Given the description of an element on the screen output the (x, y) to click on. 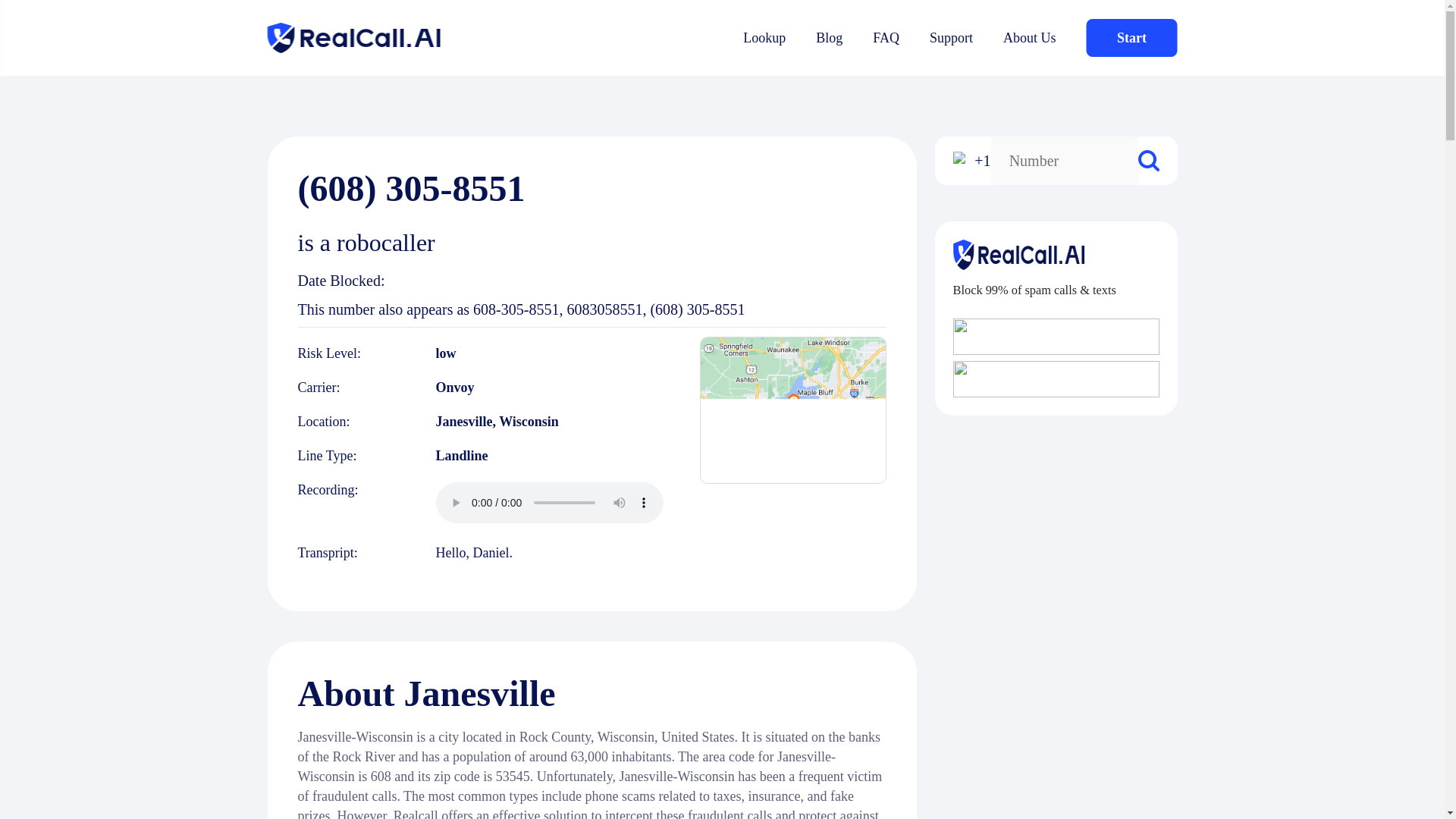
Support (951, 37)
Start (1131, 37)
Lookup (764, 37)
FAQ (885, 37)
Blog (829, 37)
About Us (1030, 37)
